Given the description of an element on the screen output the (x, y) to click on. 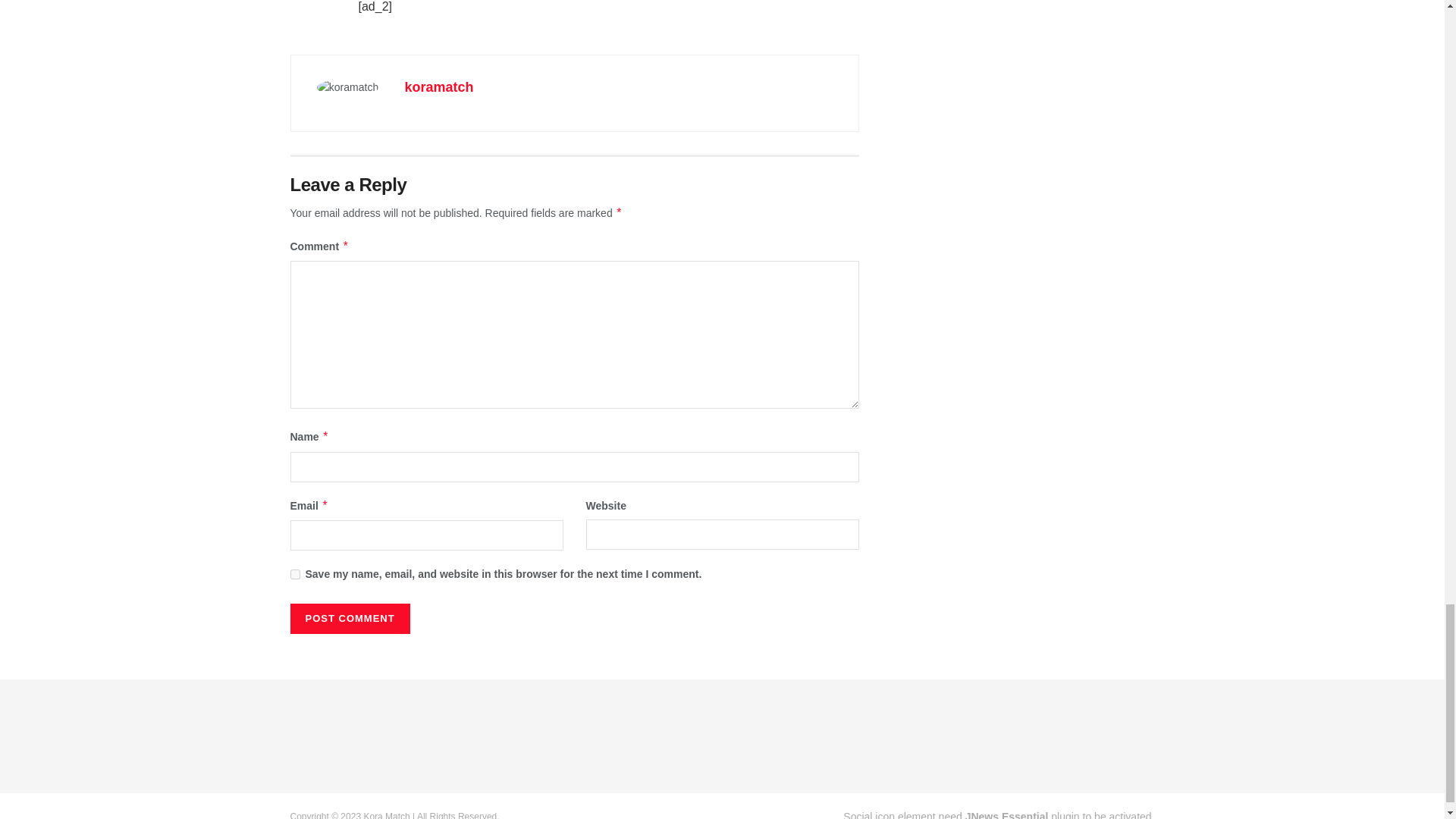
Post Comment (349, 618)
yes (294, 574)
